Given the description of an element on the screen output the (x, y) to click on. 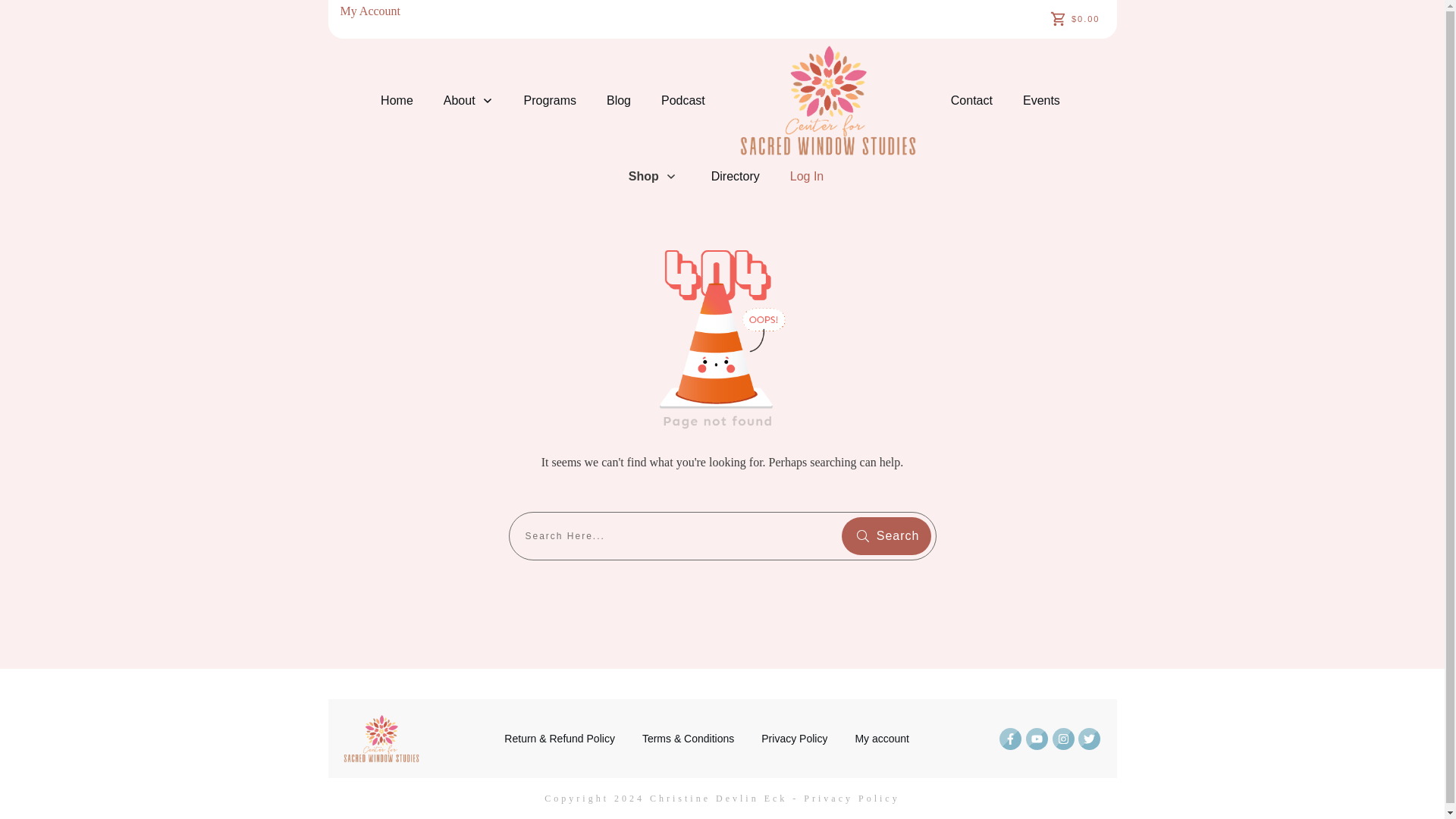
Shop (652, 176)
Contact (971, 100)
Home (396, 100)
About (468, 100)
Log In (807, 176)
Blog (618, 100)
My Account (369, 10)
Events (1041, 100)
Search (886, 535)
Privacy Policy (794, 738)
